Given the description of an element on the screen output the (x, y) to click on. 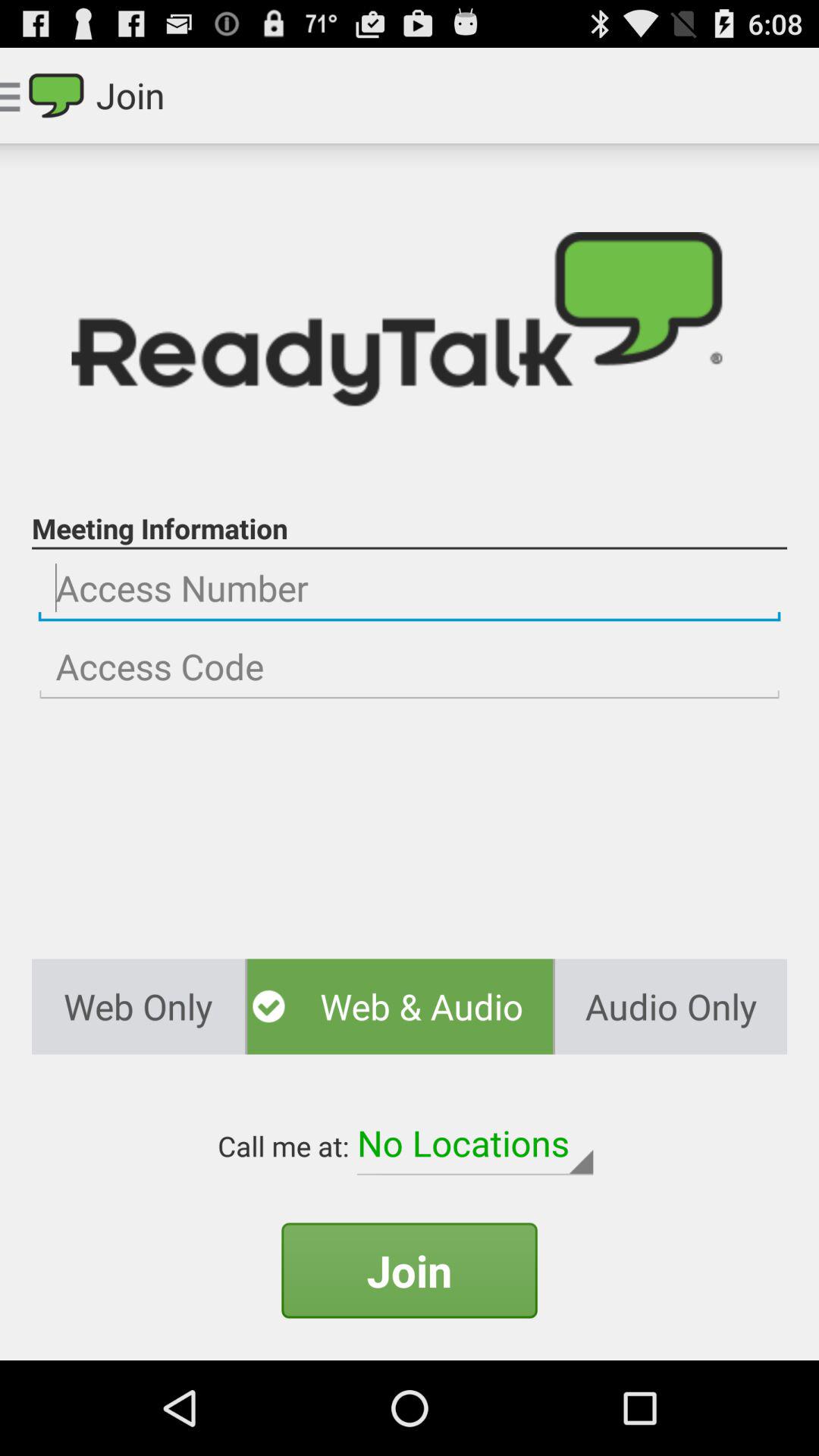
access code (409, 666)
